Given the description of an element on the screen output the (x, y) to click on. 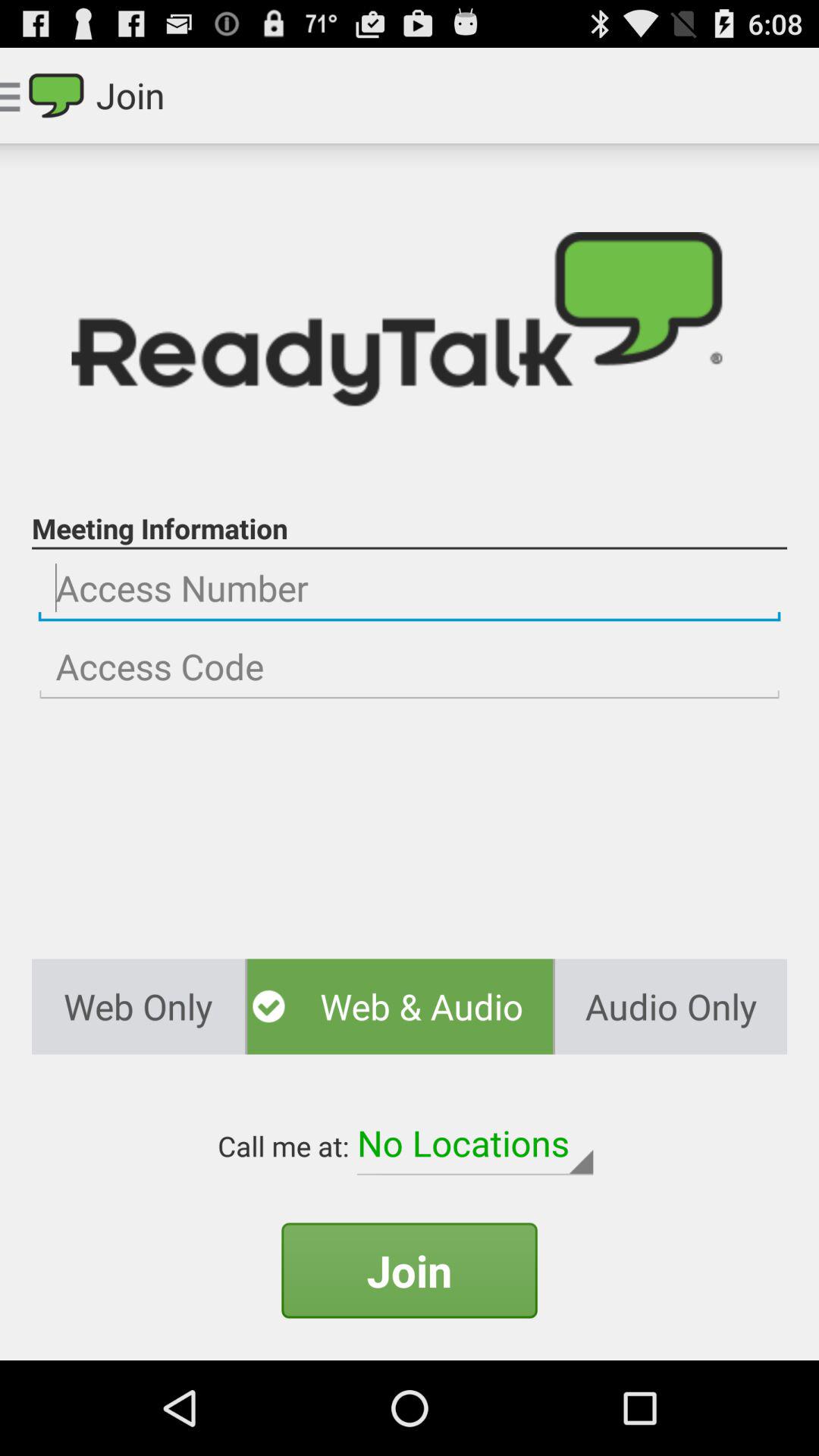
access code (409, 666)
